Given the description of an element on the screen output the (x, y) to click on. 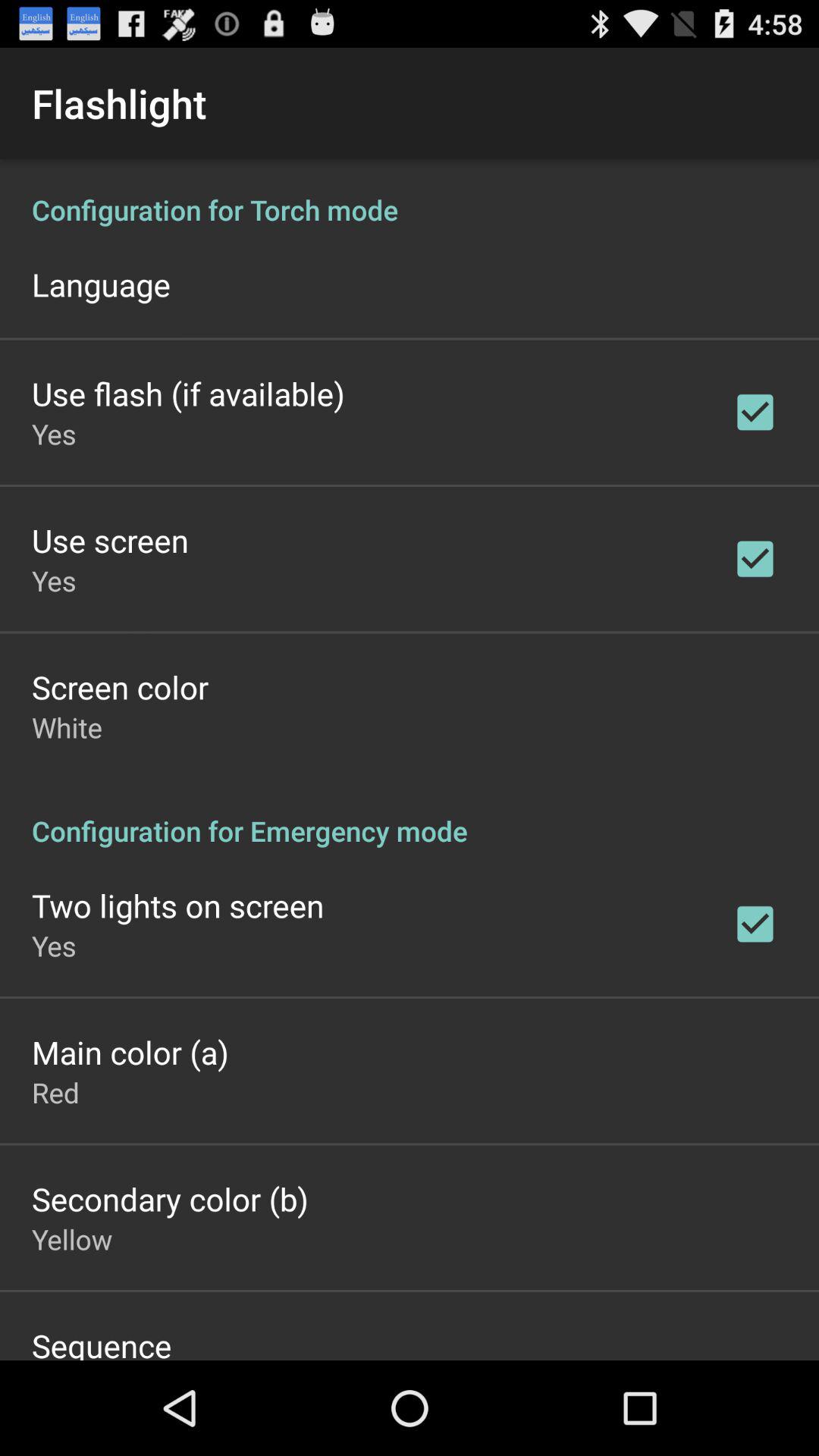
press item above the use flash if item (100, 283)
